Given the description of an element on the screen output the (x, y) to click on. 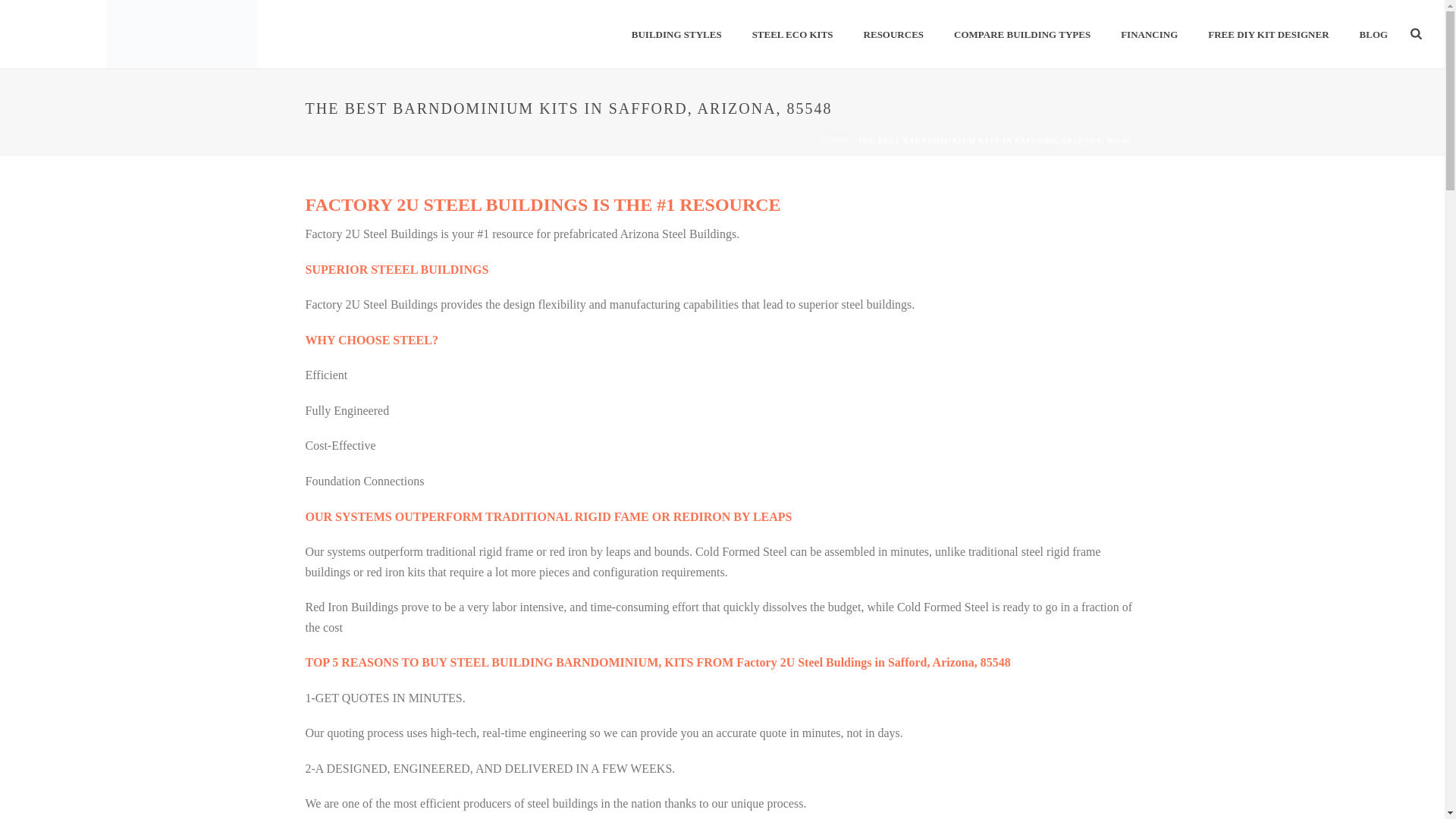
STEEL ECO KITS (792, 34)
BUILDING STYLES (675, 34)
STEEL ECO KITS (792, 34)
FREE DIY KIT DESIGNER (1267, 34)
HOME (835, 140)
FREE DIY KIT DESIGNER (1267, 34)
RESOURCES (893, 34)
RESOURCES (893, 34)
COMPARE BUILDING TYPES (1022, 34)
FINANCING (1148, 34)
COMPARE BUILDING TYPES (1022, 34)
BLOG (1373, 34)
BLOG (1373, 34)
FINANCING (1148, 34)
BUILDING STYLES (675, 34)
